Given the description of an element on the screen output the (x, y) to click on. 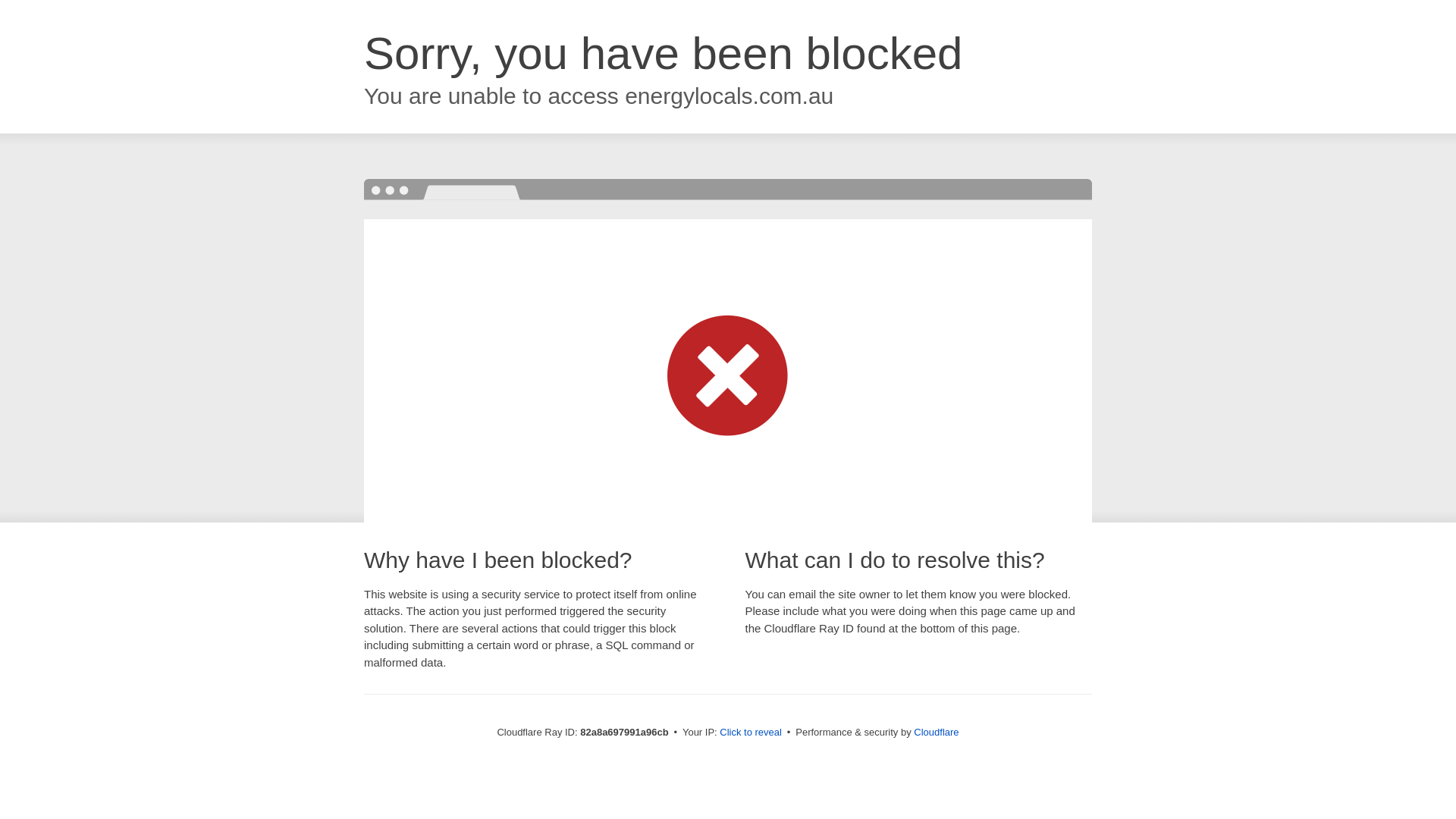
Cloudflare Element type: text (935, 731)
Click to reveal Element type: text (750, 732)
